Given the description of an element on the screen output the (x, y) to click on. 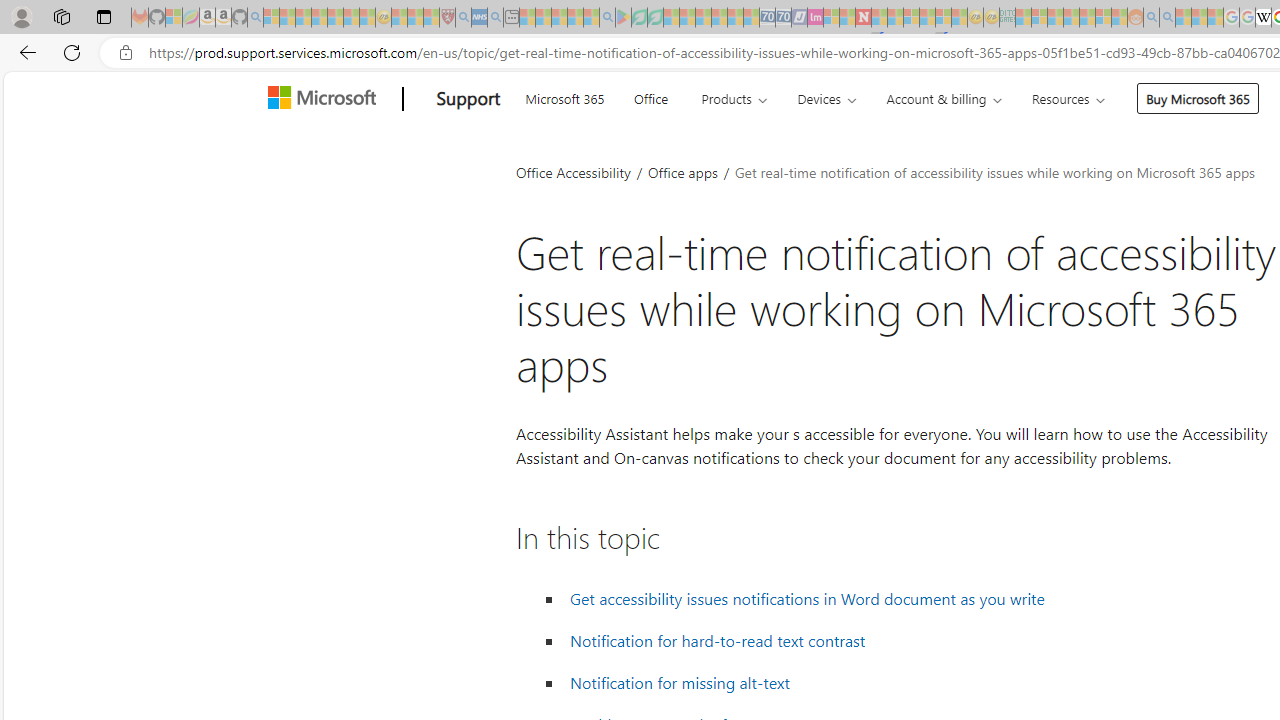
Office Accessibility (573, 172)
